Given the description of an element on the screen output the (x, y) to click on. 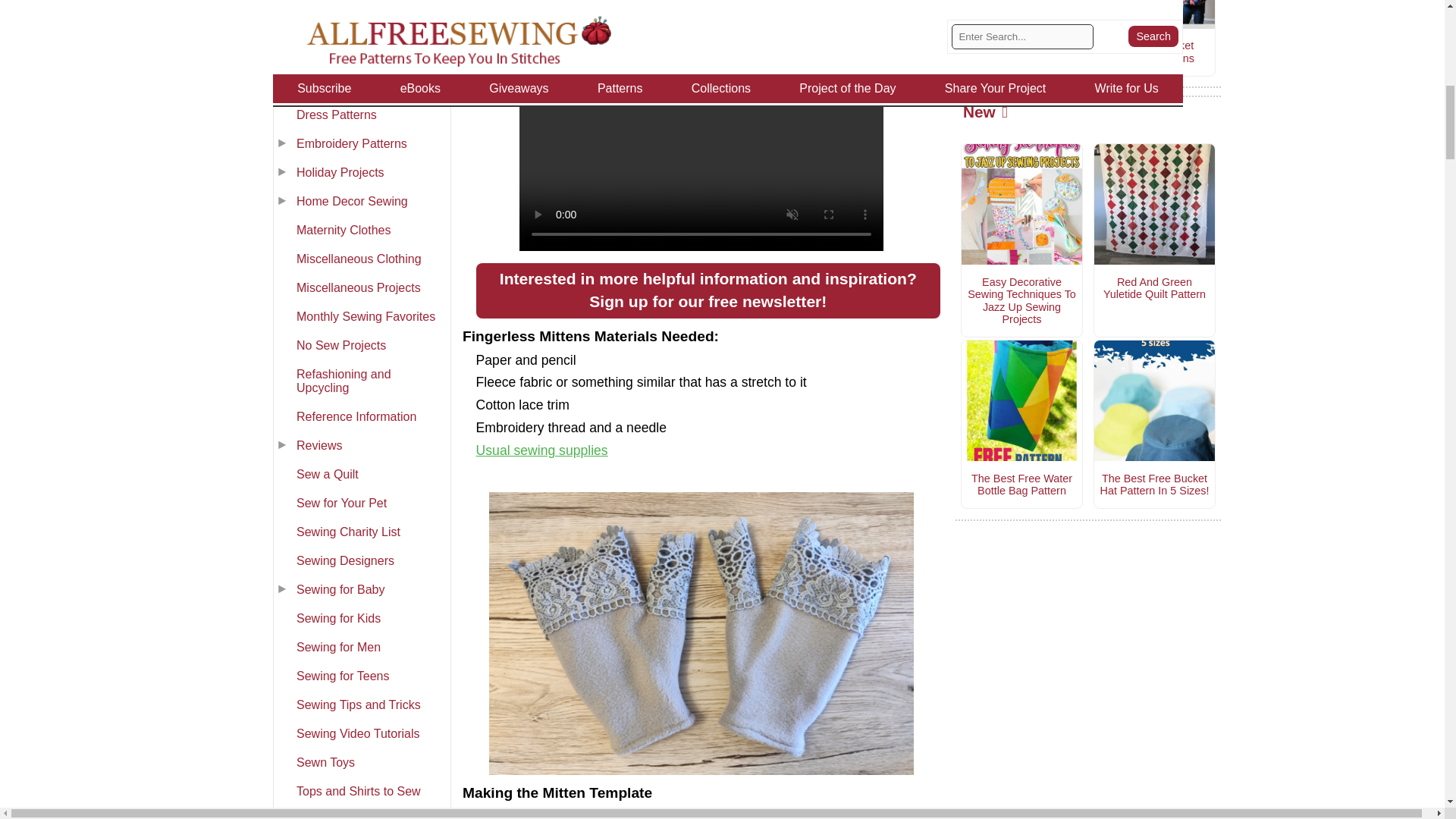
Lace Edged Fingerless Gloves - finished (701, 633)
